Given the description of an element on the screen output the (x, y) to click on. 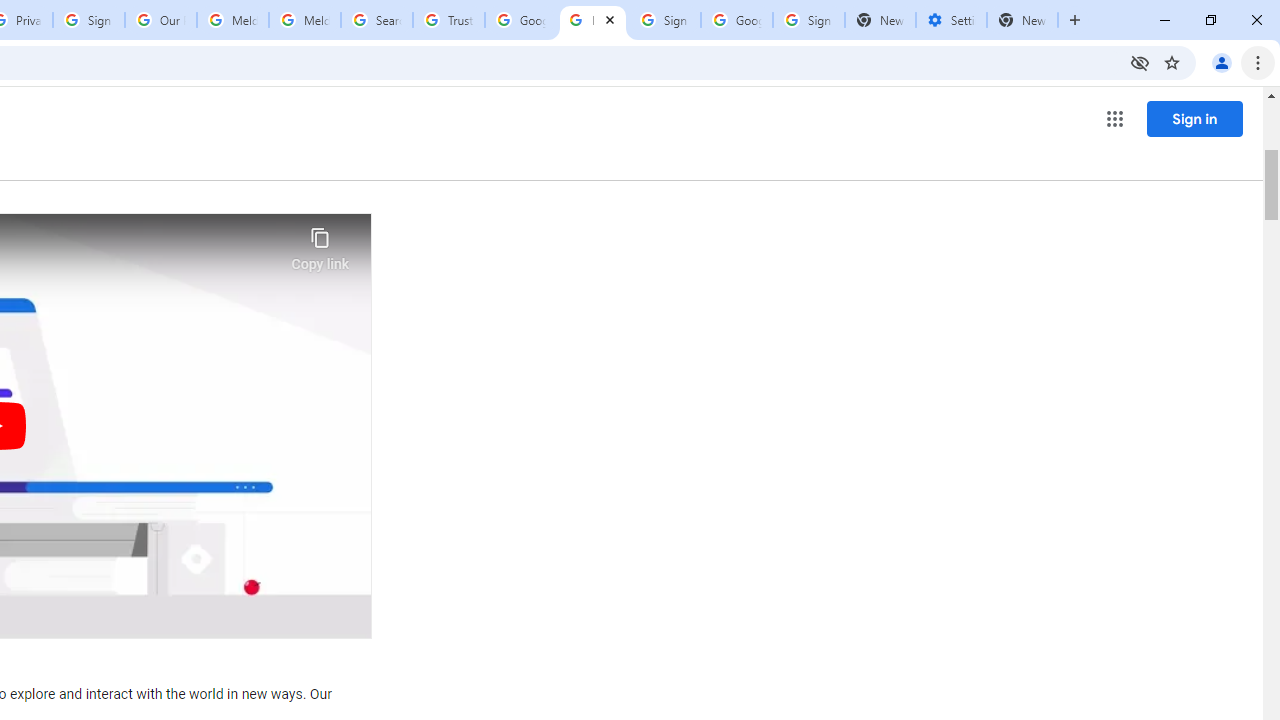
Search our Doodle Library Collection - Google Doodles (376, 20)
Sign in - Google Accounts (664, 20)
New Tab (1022, 20)
Sign in - Google Accounts (88, 20)
Copy link (319, 244)
Sign in - Google Accounts (808, 20)
